Given the description of an element on the screen output the (x, y) to click on. 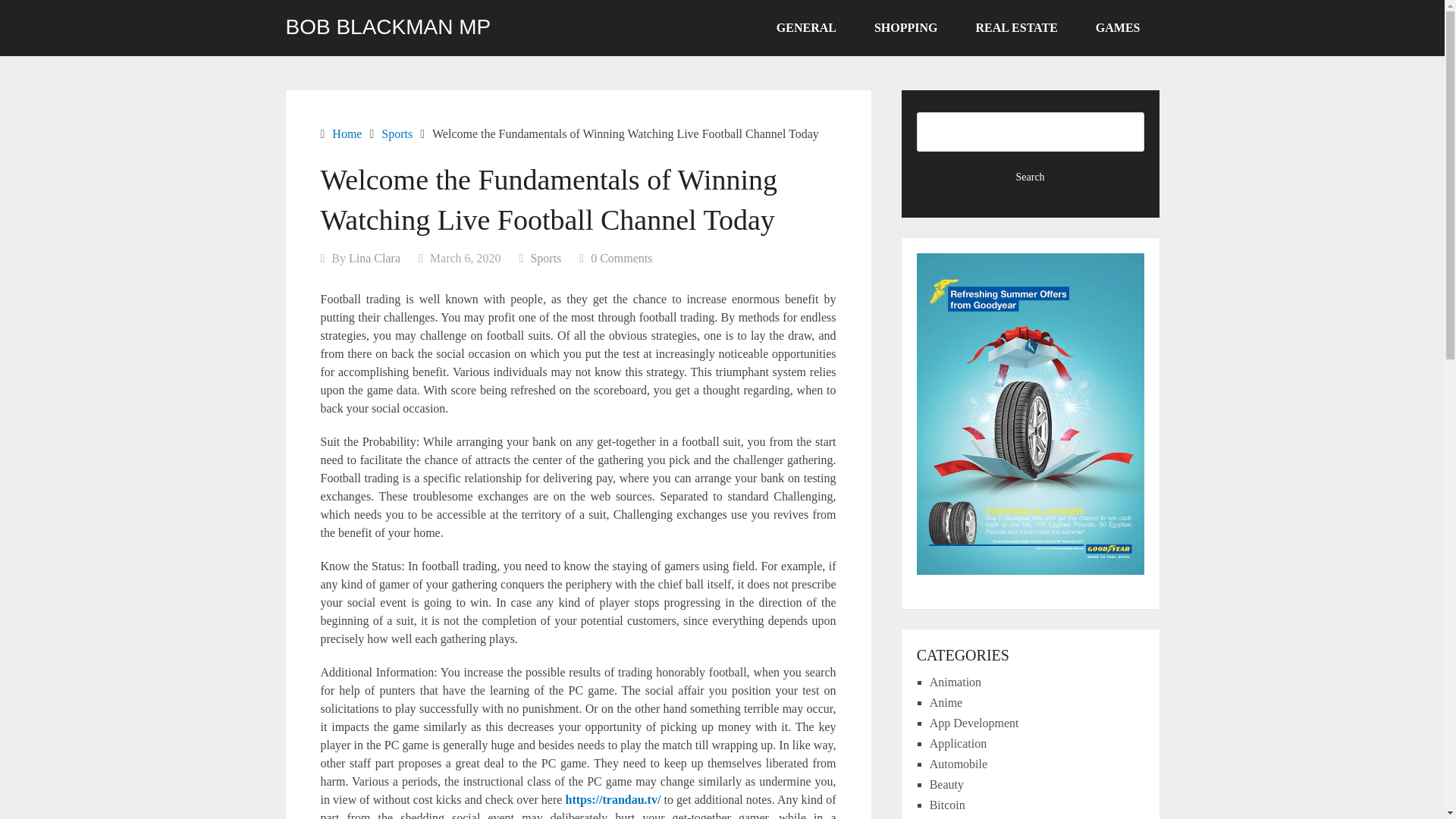
REAL ESTATE (1015, 28)
App Development (974, 722)
Posts by Lina Clara (374, 257)
BOB BLACKMAN MP (387, 26)
Bitcoin (947, 804)
SHOPPING (906, 28)
Anime (946, 702)
Home (346, 133)
GAMES (1117, 28)
GENERAL (806, 28)
